Given the description of an element on the screen output the (x, y) to click on. 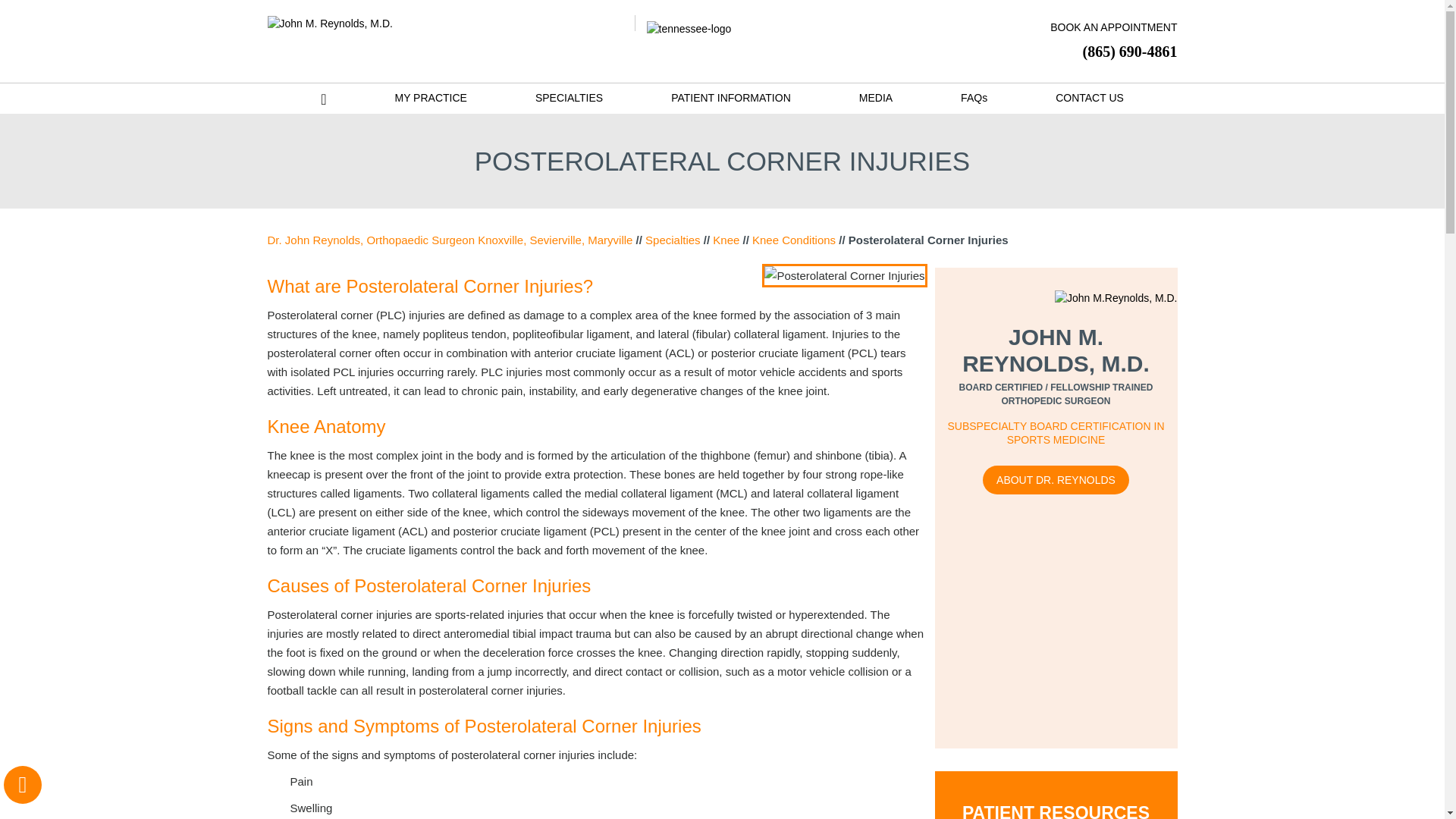
PATIENT INFORMATION (731, 97)
Hide (22, 784)
BOOK AN APPOINTMENT (1102, 28)
Accessible Tool Options (23, 784)
MEDIA (875, 97)
SPECIALTIES (568, 97)
MY PRACTICE (429, 97)
